Given the description of an element on the screen output the (x, y) to click on. 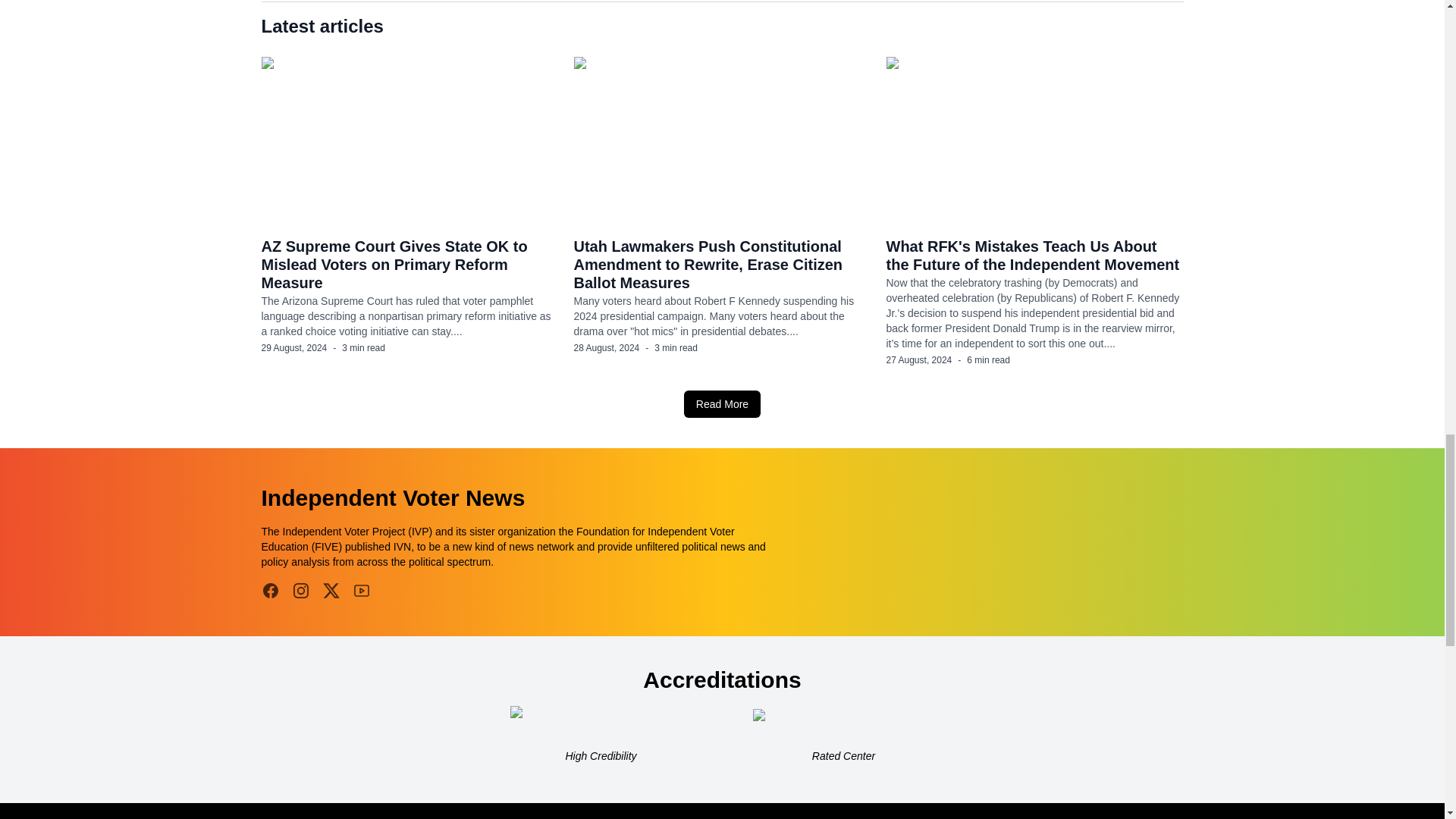
Read More (722, 403)
